Given the description of an element on the screen output the (x, y) to click on. 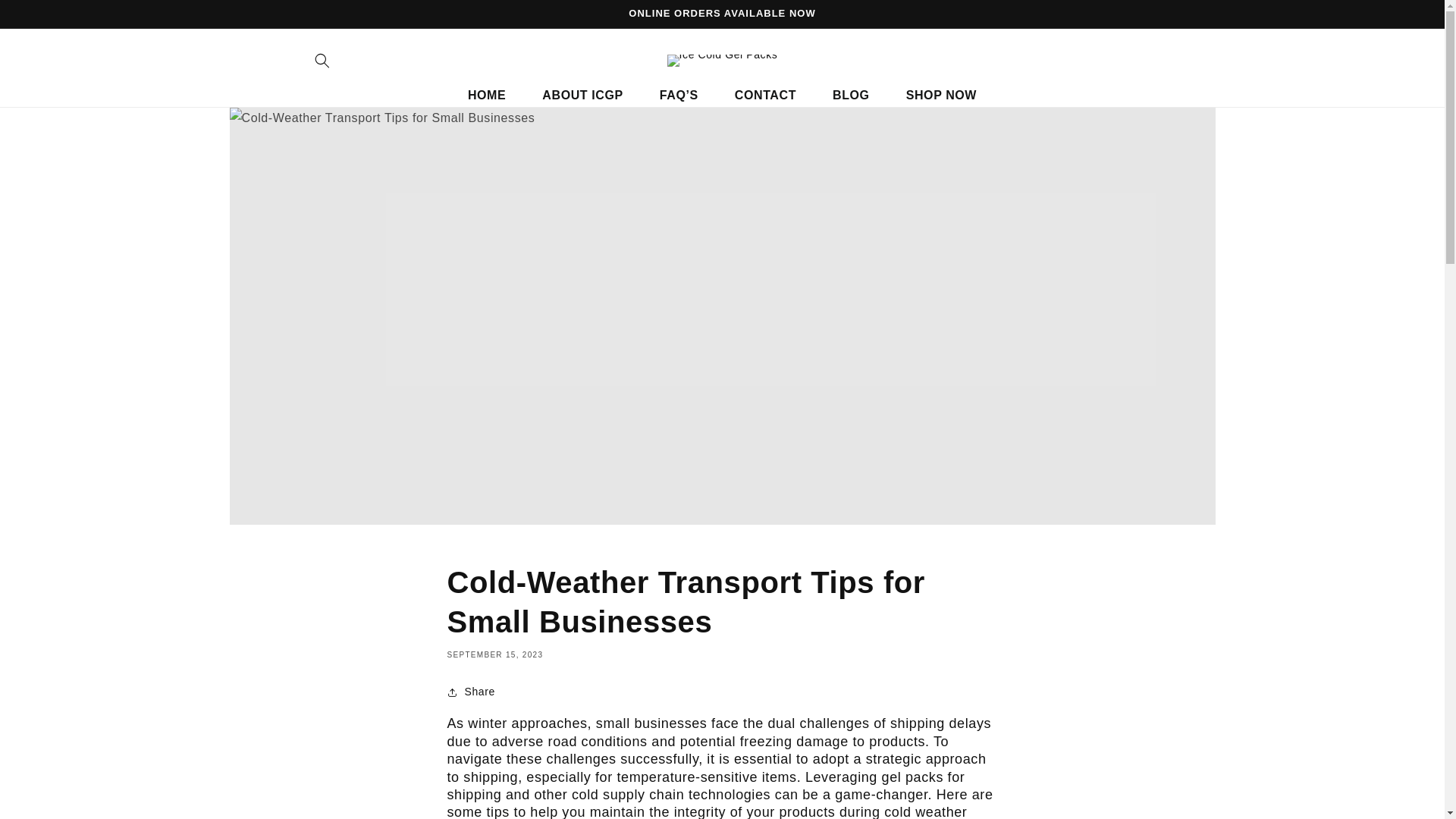
Skip to content (45, 17)
ABOUT ICGP (582, 95)
HOME (486, 95)
CONTACT (764, 95)
SHOP NOW (940, 95)
BLOG (850, 95)
